Given the description of an element on the screen output the (x, y) to click on. 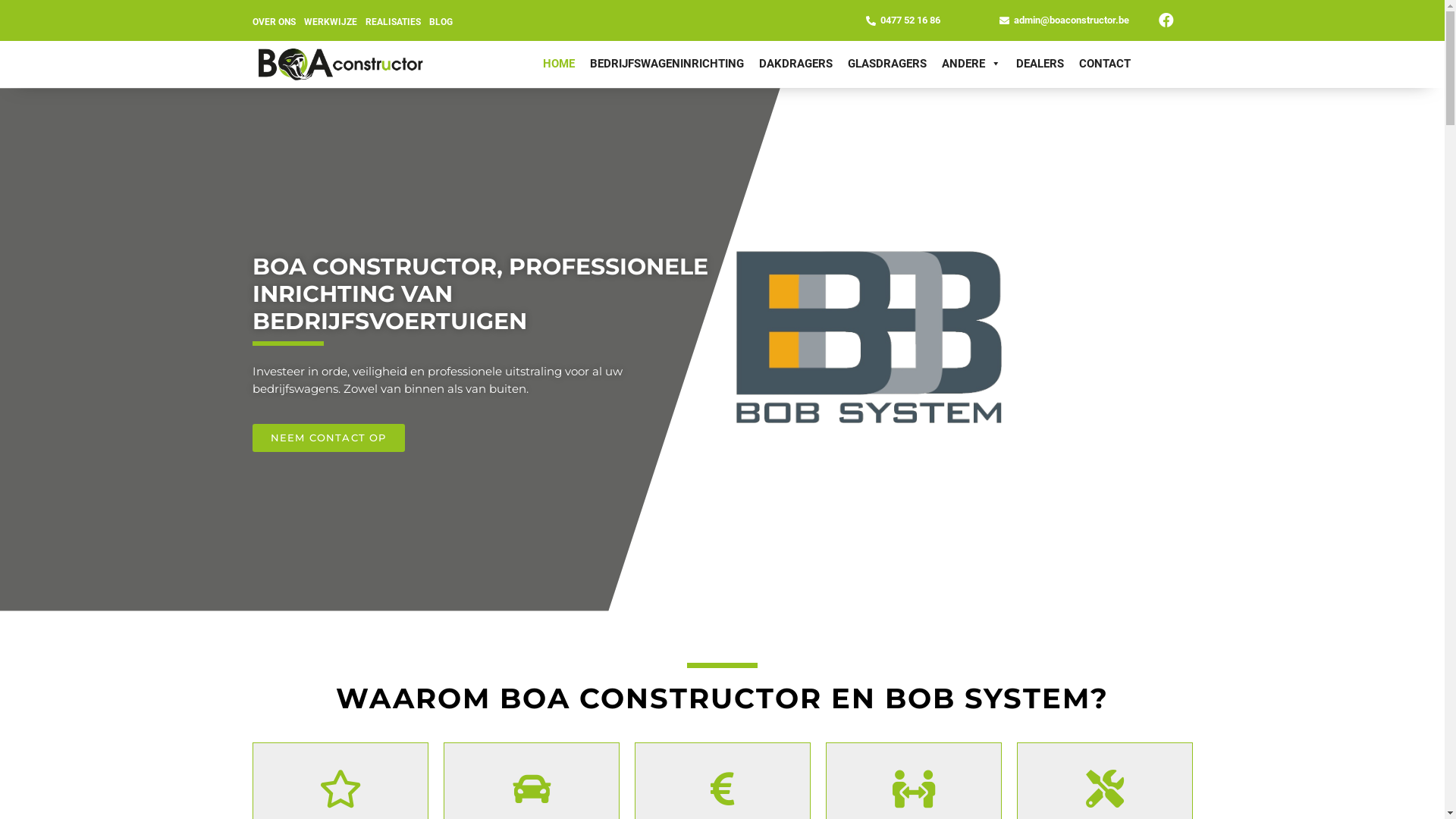
BLOG Element type: text (440, 21)
OVER ONS Element type: text (272, 21)
REALISATIES Element type: text (392, 21)
ANDERE Element type: text (971, 63)
DAKDRAGERS Element type: text (795, 63)
GLASDRAGERS Element type: text (887, 63)
CONTACT Element type: text (1104, 63)
BEDRIJFSWAGENINRICHTING Element type: text (666, 63)
admin@boaconstructor.be Element type: text (1071, 19)
DEALERS Element type: text (1039, 63)
WERKWIJZE Element type: text (329, 21)
HOME Element type: text (558, 63)
0477 52 16 86 Element type: text (909, 19)
NEEM CONTACT OP Element type: text (327, 437)
